Given the description of an element on the screen output the (x, y) to click on. 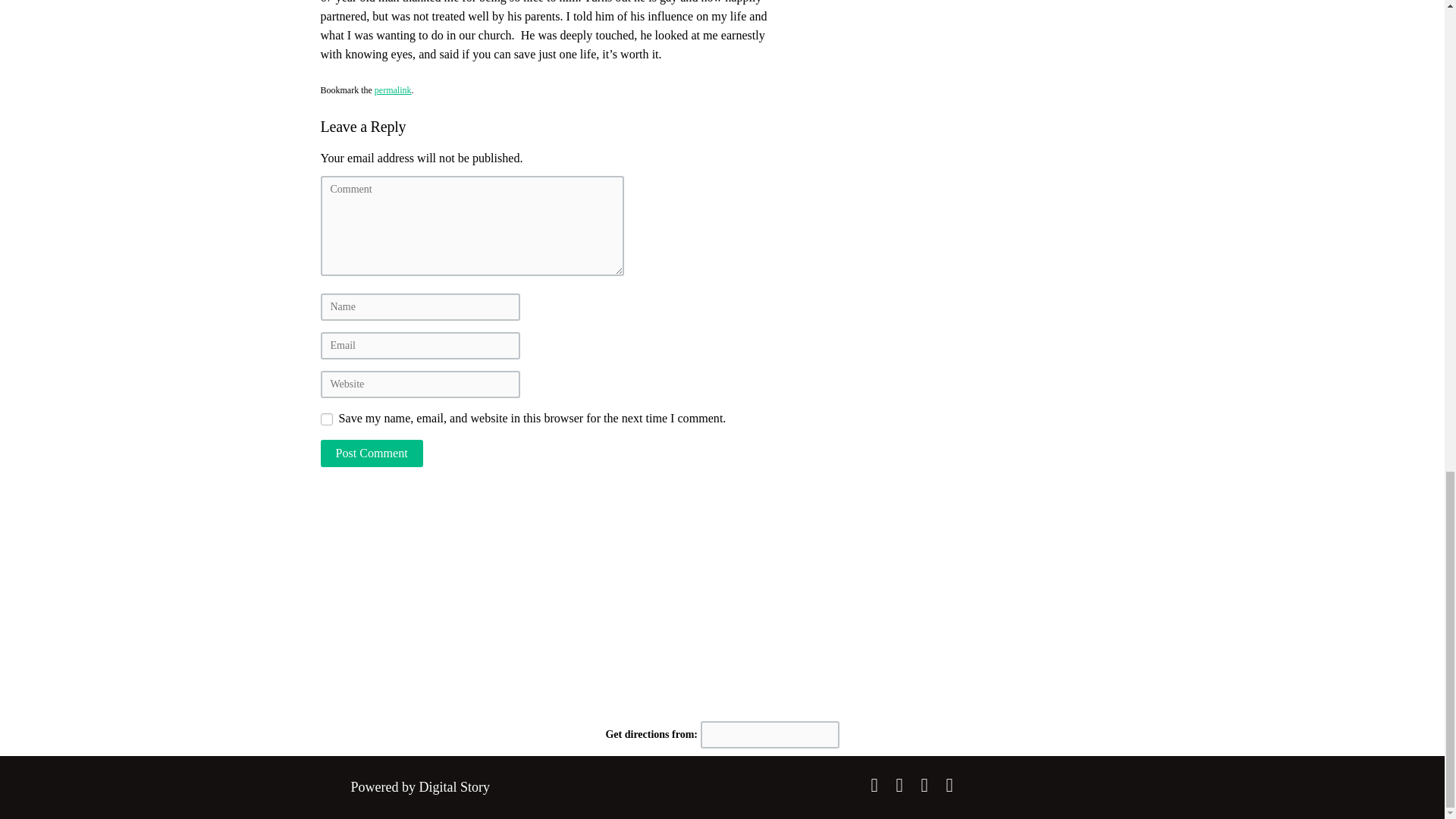
Instagram (923, 784)
Facebook (873, 784)
YouTube (949, 784)
Powered by Digital Story (419, 786)
Twitter (898, 784)
Post Comment (371, 452)
yes (325, 419)
Post Comment (371, 452)
Permalink to Profile: Heidi Good (393, 90)
permalink (393, 90)
